Given the description of an element on the screen output the (x, y) to click on. 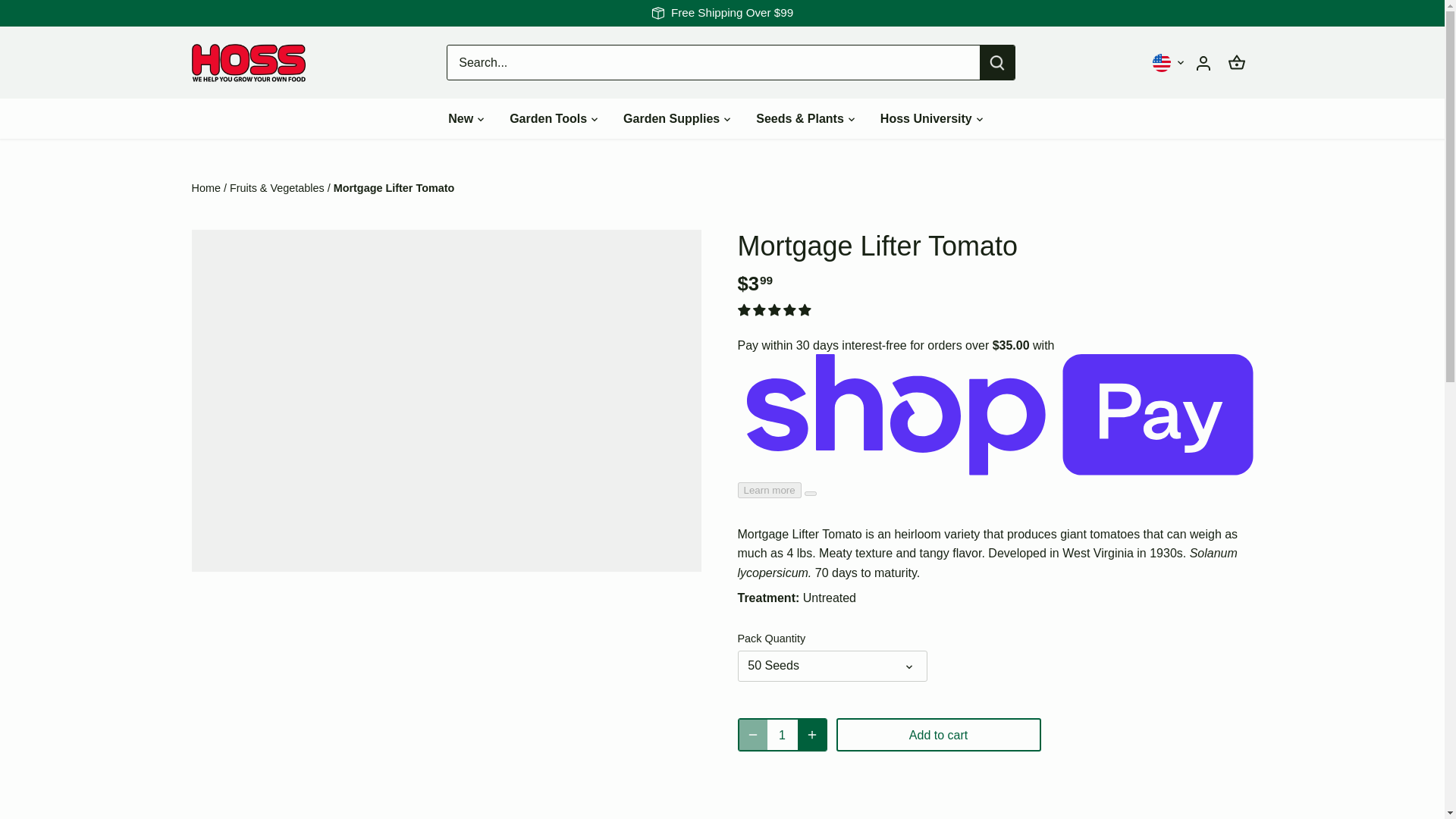
Garden Tools (547, 118)
New (466, 118)
1 (782, 735)
